Given the description of an element on the screen output the (x, y) to click on. 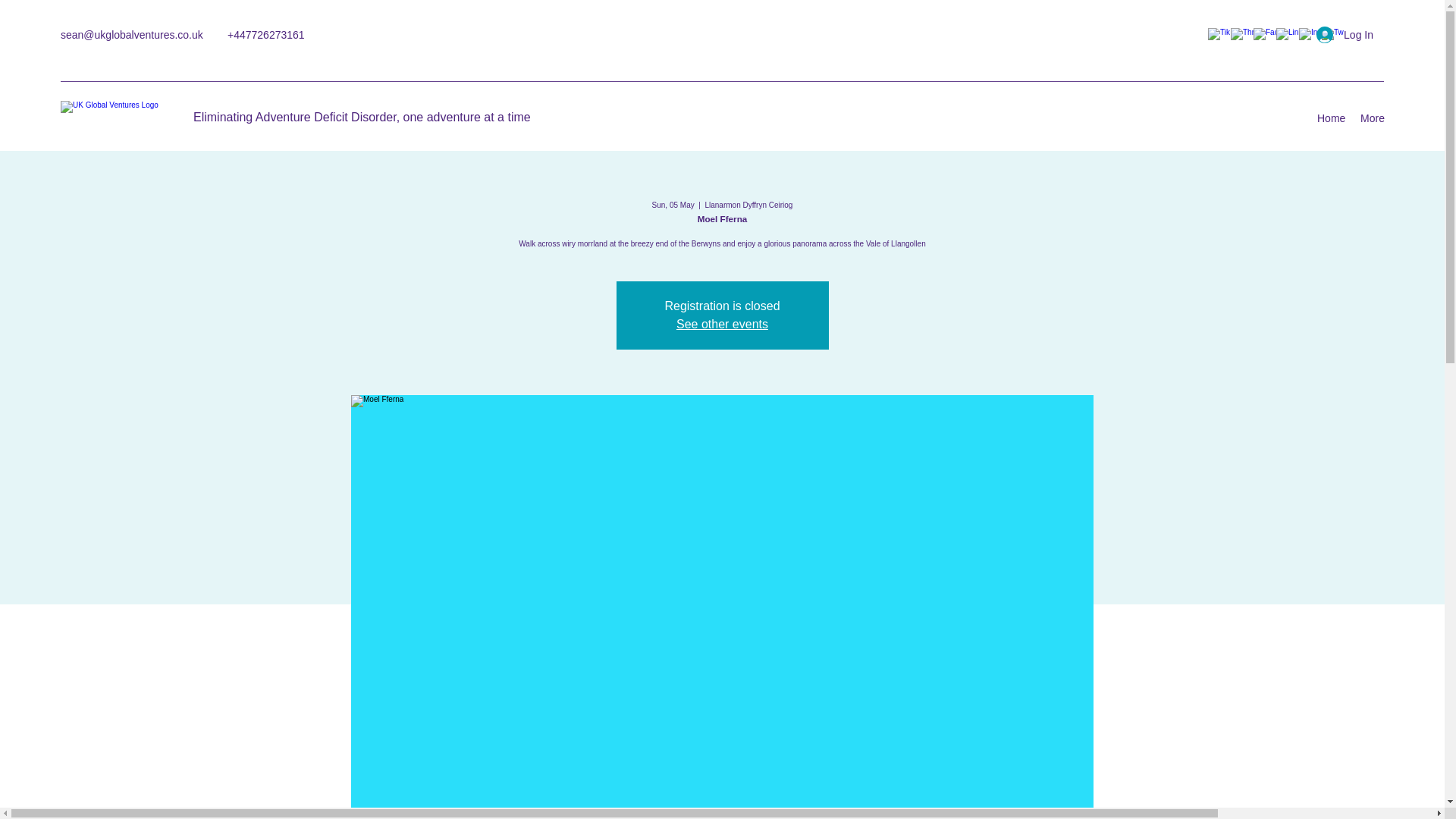
See other events (722, 323)
Log In (1345, 34)
Home (1330, 118)
